Given the description of an element on the screen output the (x, y) to click on. 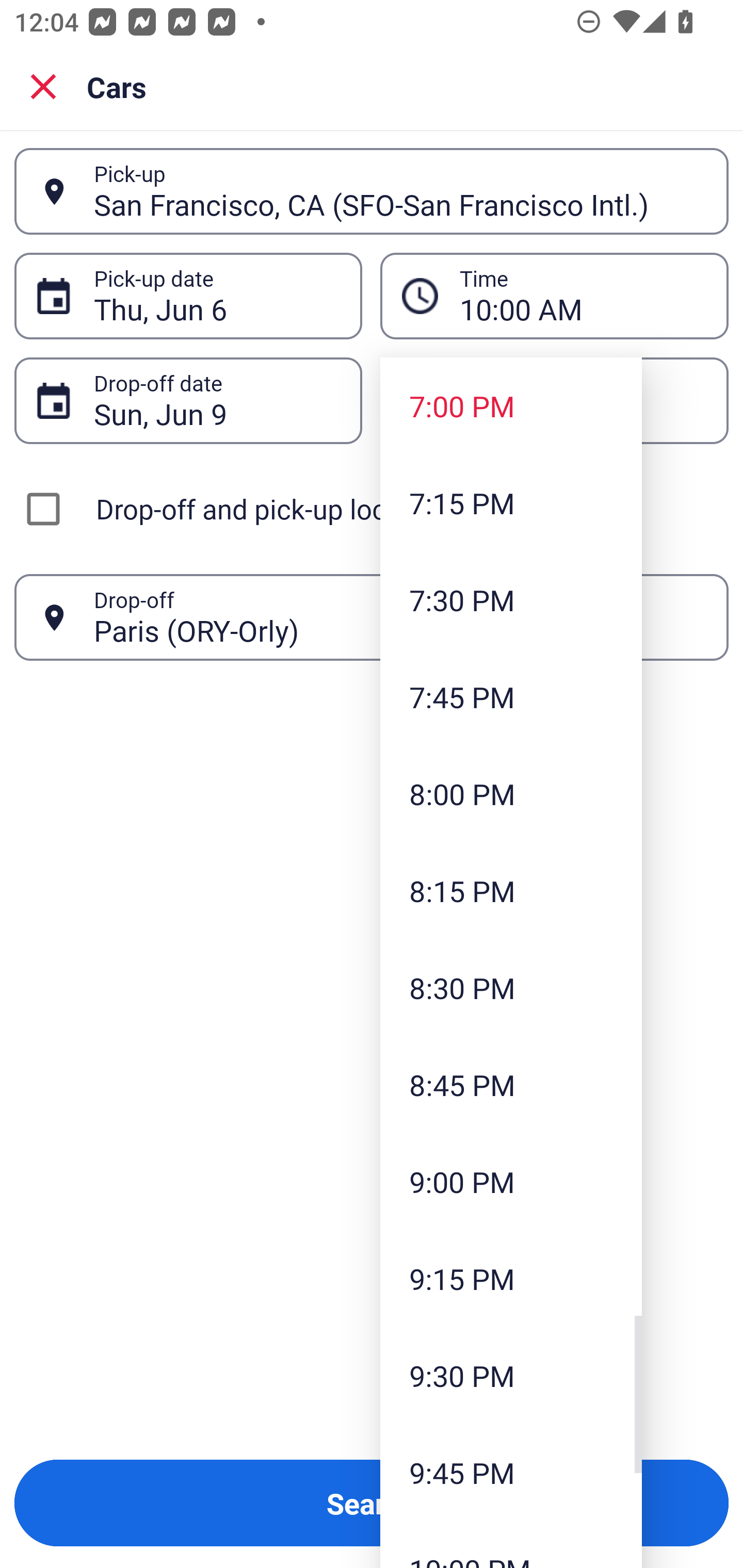
7:00 PM (510, 405)
7:15 PM (510, 502)
7:30 PM (510, 599)
7:45 PM (510, 695)
8:00 PM (510, 793)
8:15 PM (510, 890)
8:30 PM (510, 987)
8:45 PM (510, 1084)
9:00 PM (510, 1181)
9:15 PM (510, 1278)
9:30 PM (510, 1374)
9:45 PM (510, 1471)
